Given the description of an element on the screen output the (x, y) to click on. 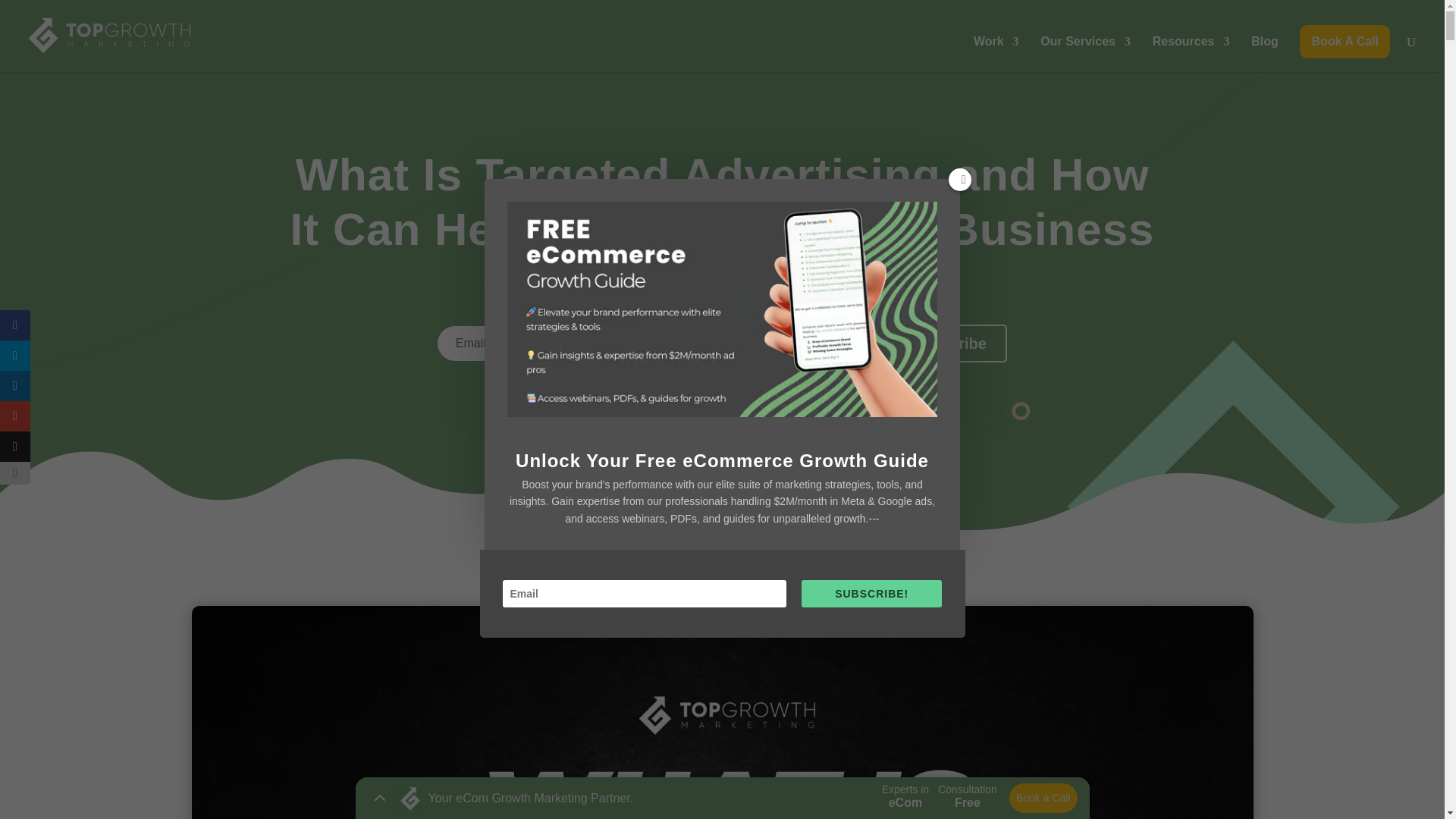
Book A Call (1345, 41)
Our Services (1086, 54)
Resources (1191, 54)
Work (996, 54)
